Given the description of an element on the screen output the (x, y) to click on. 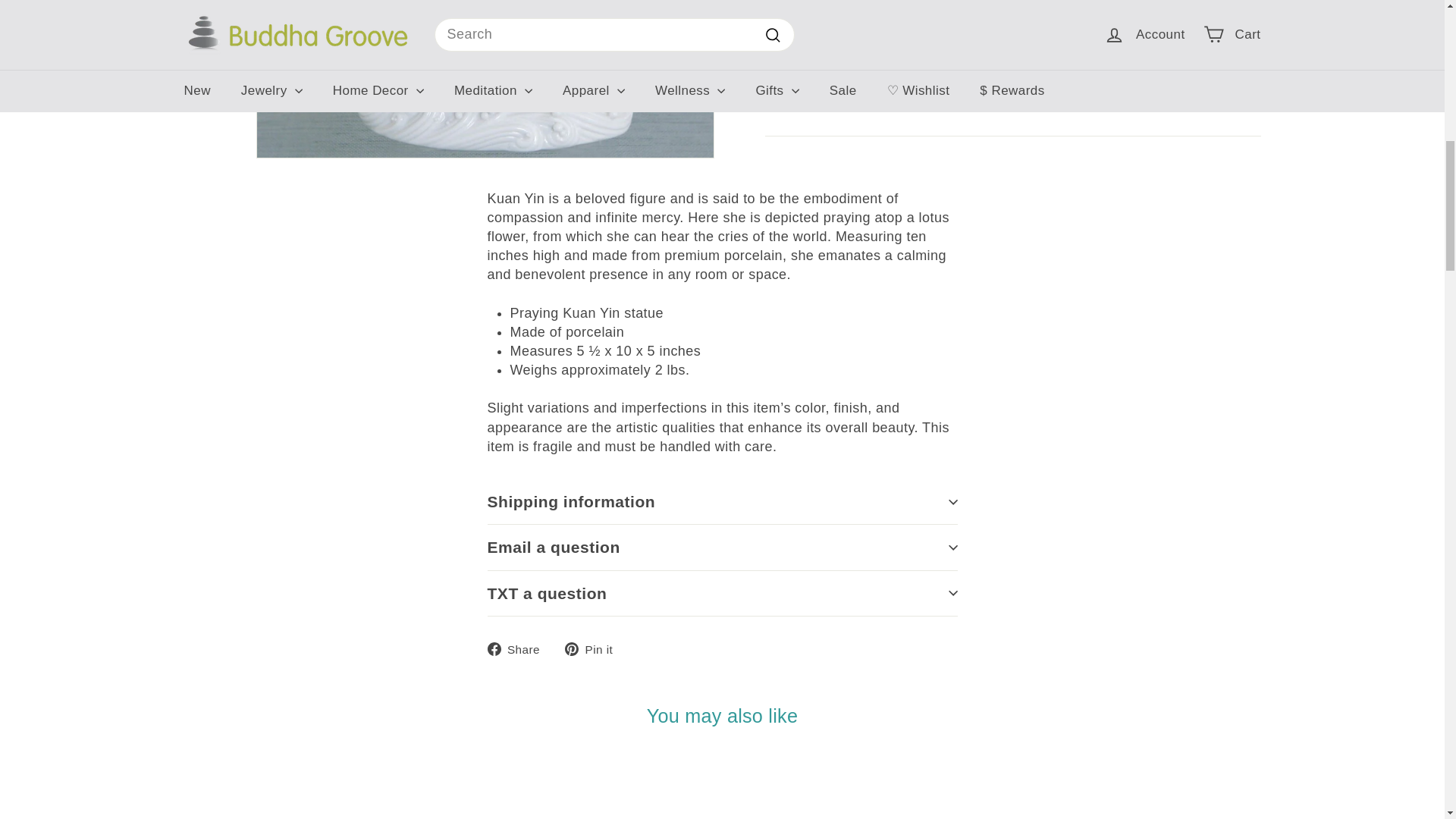
Share on Facebook (518, 648)
Pin on Pinterest (594, 648)
